Given the description of an element on the screen output the (x, y) to click on. 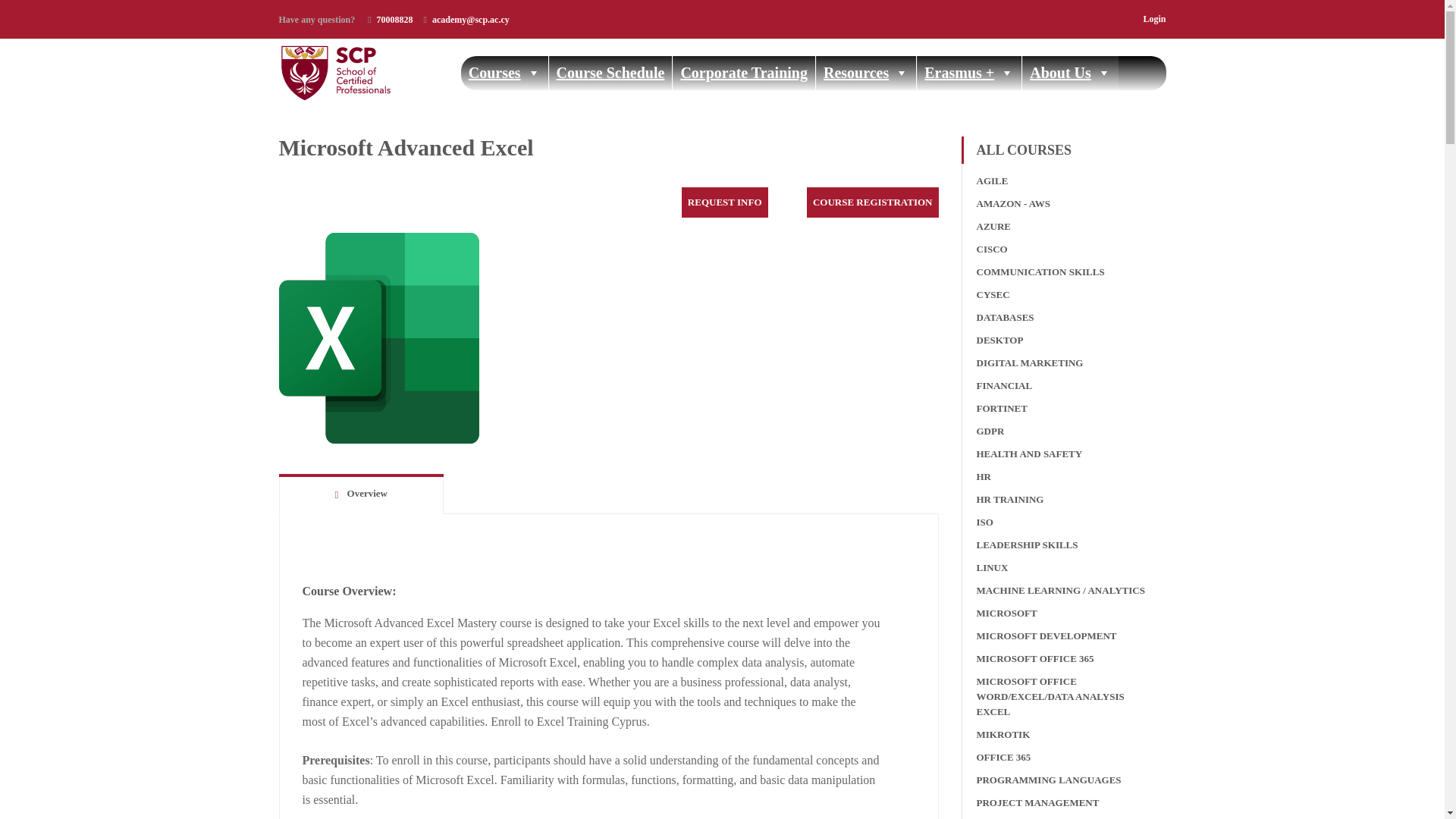
Excel (379, 337)
SCP Academy - IT Training (363, 72)
